Given the description of an element on the screen output the (x, y) to click on. 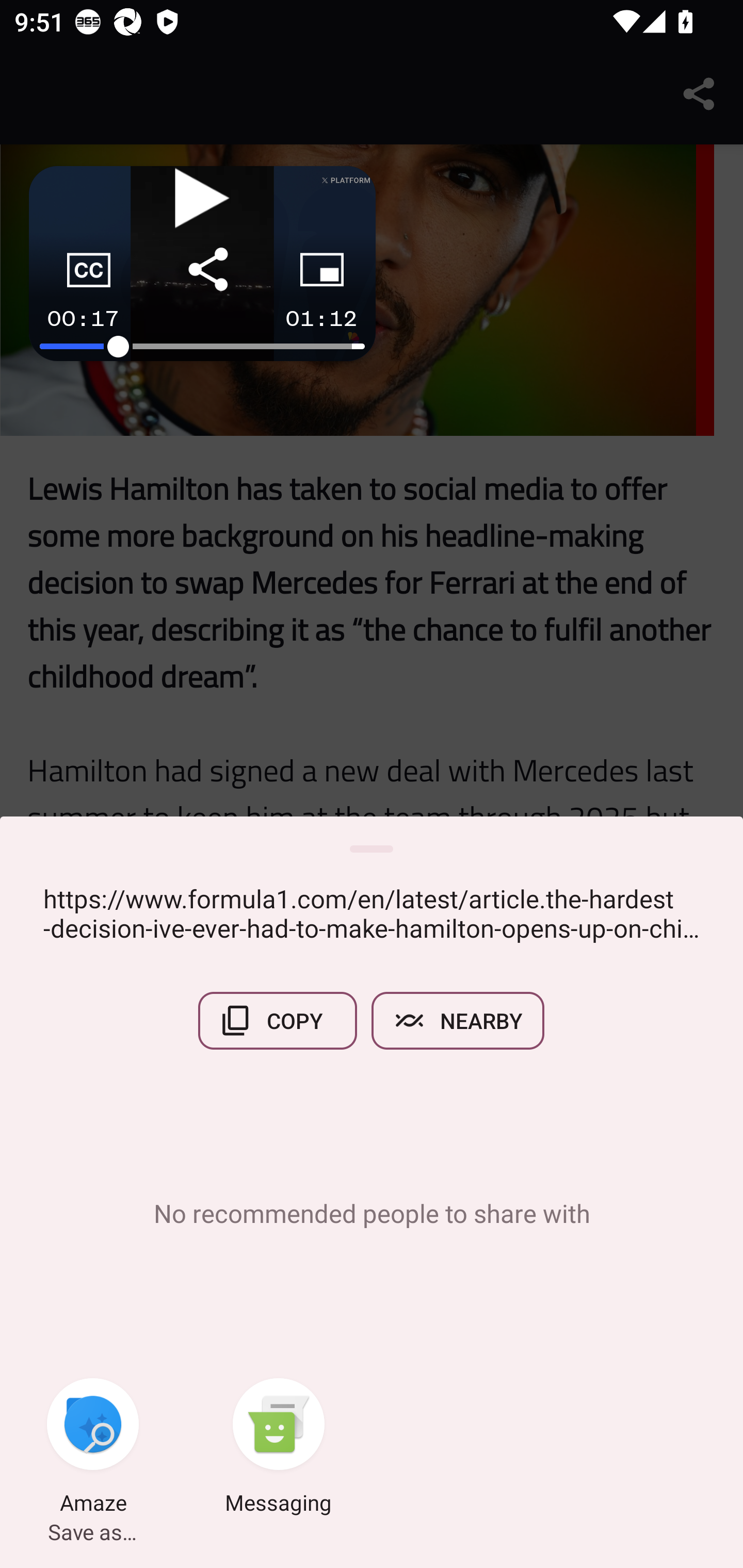
COPY (277, 1020)
NEARBY (457, 1020)
Amaze Save as… (92, 1448)
Messaging (278, 1448)
